Given the description of an element on the screen output the (x, y) to click on. 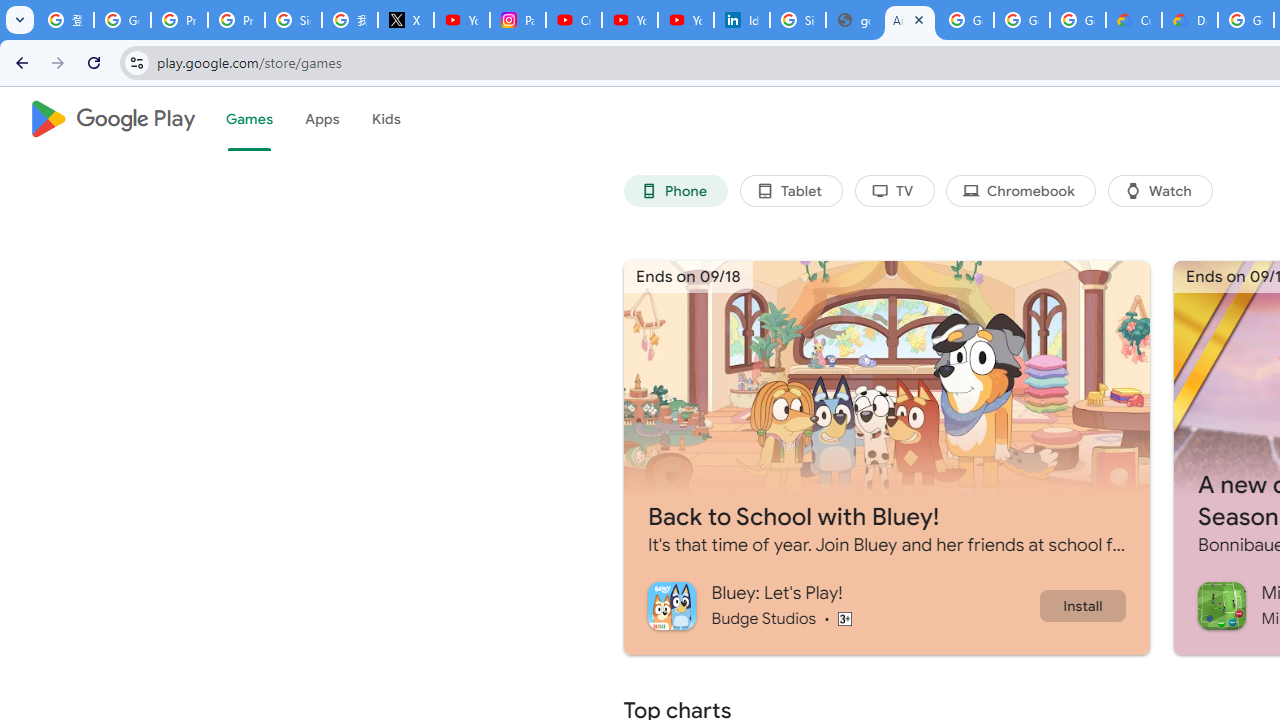
Google Workspace - Specific Terms (1077, 20)
Privacy Help Center - Policies Help (235, 20)
Phone (675, 190)
Apps (321, 119)
Install (1082, 605)
Sign in - Google Accounts (797, 20)
Customer Care | Google Cloud (1133, 20)
Google Workspace - Specific Terms (1021, 20)
Games (248, 119)
